Given the description of an element on the screen output the (x, y) to click on. 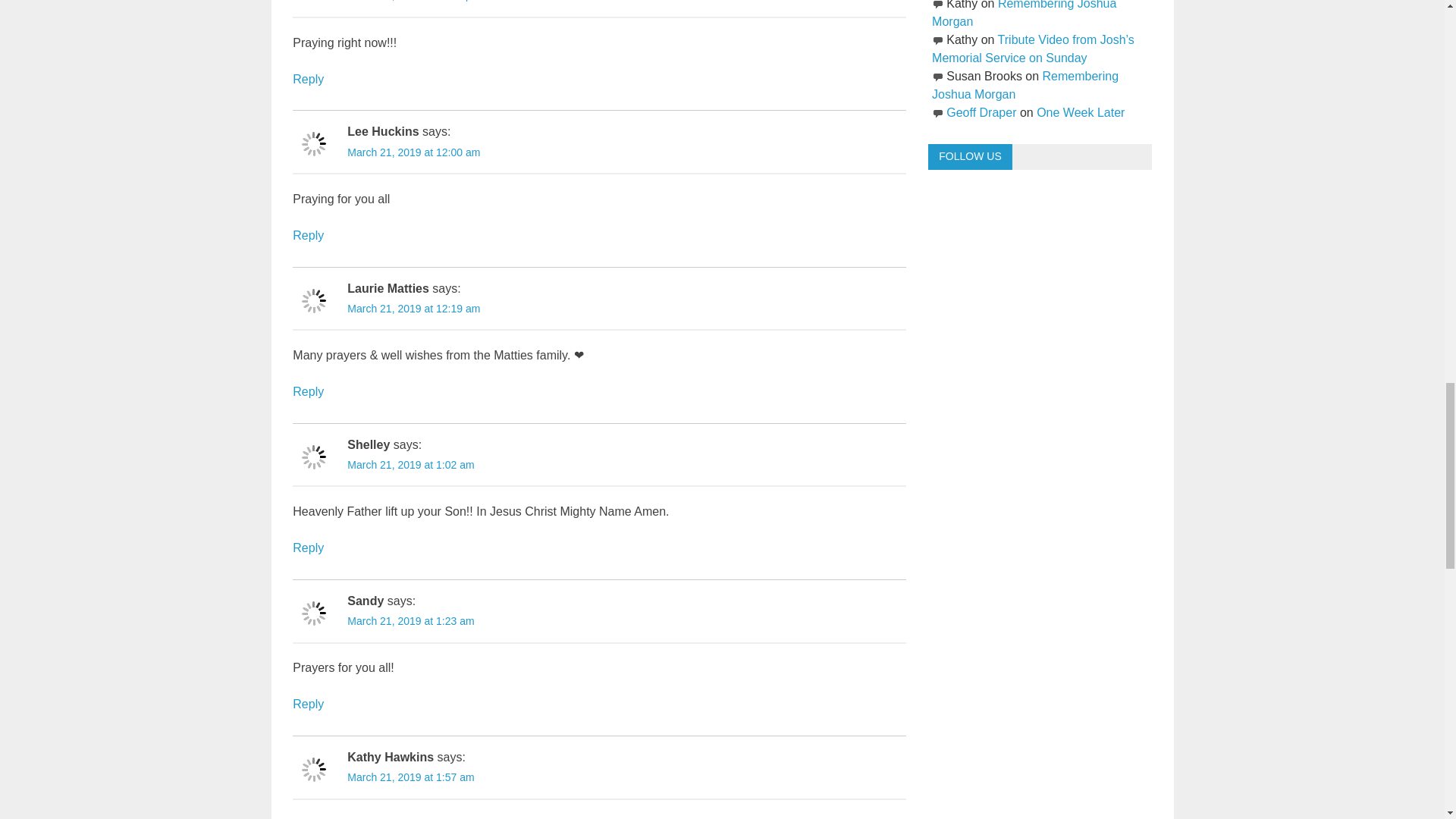
March 20, 2019 at 11:42 pm (413, 0)
March 21, 2019 at 1:57 am (410, 776)
Reply (307, 391)
Reply (307, 703)
Reply (307, 235)
March 21, 2019 at 1:02 am (410, 464)
Reply (307, 547)
March 21, 2019 at 1:23 am (410, 621)
March 21, 2019 at 12:00 am (413, 152)
March 21, 2019 at 12:19 am (413, 308)
